Given the description of an element on the screen output the (x, y) to click on. 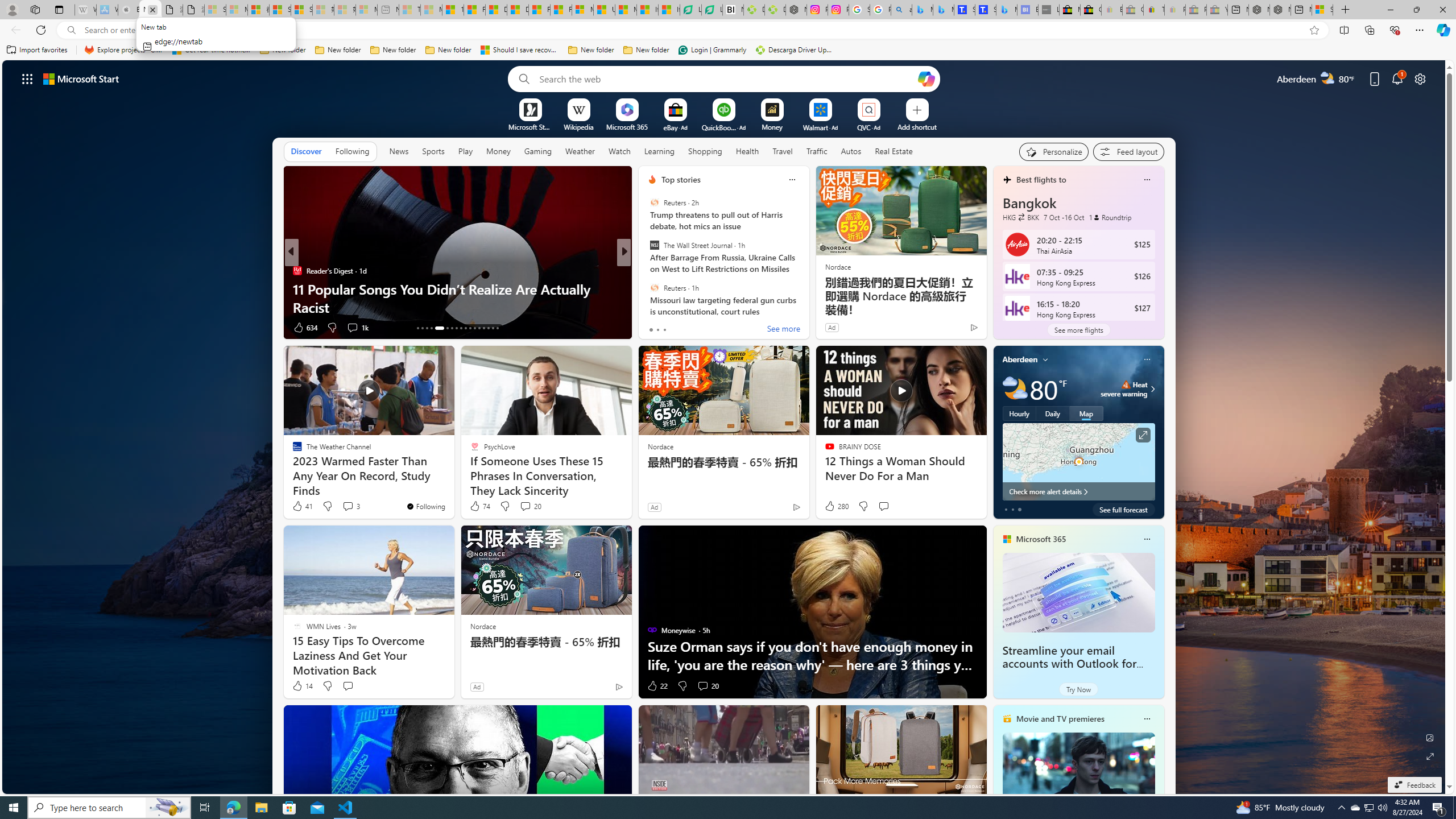
You're following Newsweek (949, 329)
See more flights (1078, 329)
View comments 88 Comment (6, 327)
AutomationID: tab-22 (465, 328)
View comments 1k Comment (357, 327)
View comments 44 Comment (707, 327)
Shangri-La Bangkok, Hotel reviews and Room rates (985, 9)
Aberdeen (1019, 359)
AutomationID: tab-19 (451, 328)
